Given the description of an element on the screen output the (x, y) to click on. 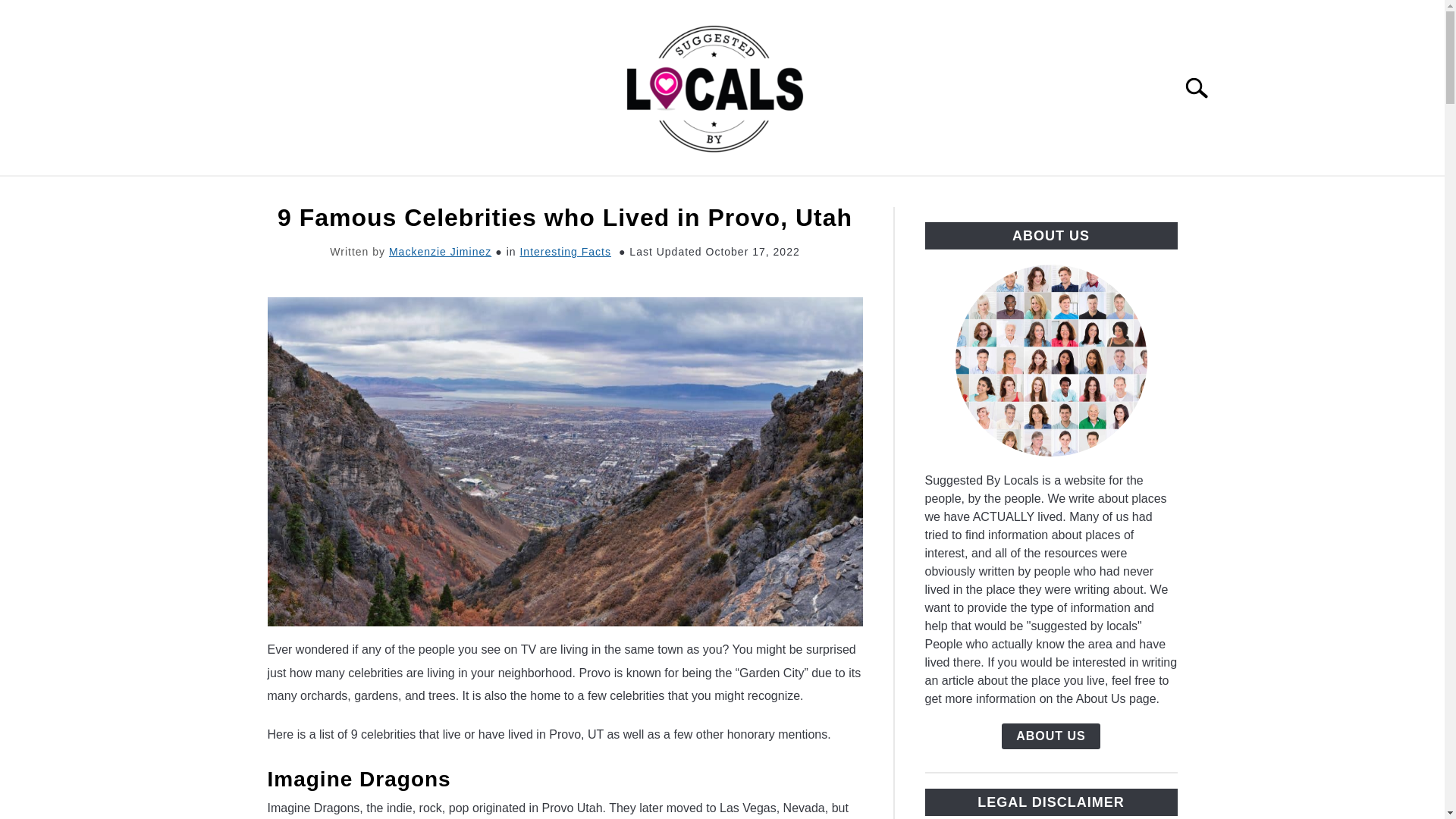
ABOUT US (1050, 736)
INTERESTING FACTS (638, 193)
Mackenzie Jiminez (440, 251)
LOCAL SECRETS (886, 193)
Search (1203, 87)
HELPFUL TIPS (1021, 193)
GENERAL INFORMATION (456, 193)
POLITICS (769, 193)
Interesting Facts (565, 251)
